Given the description of an element on the screen output the (x, y) to click on. 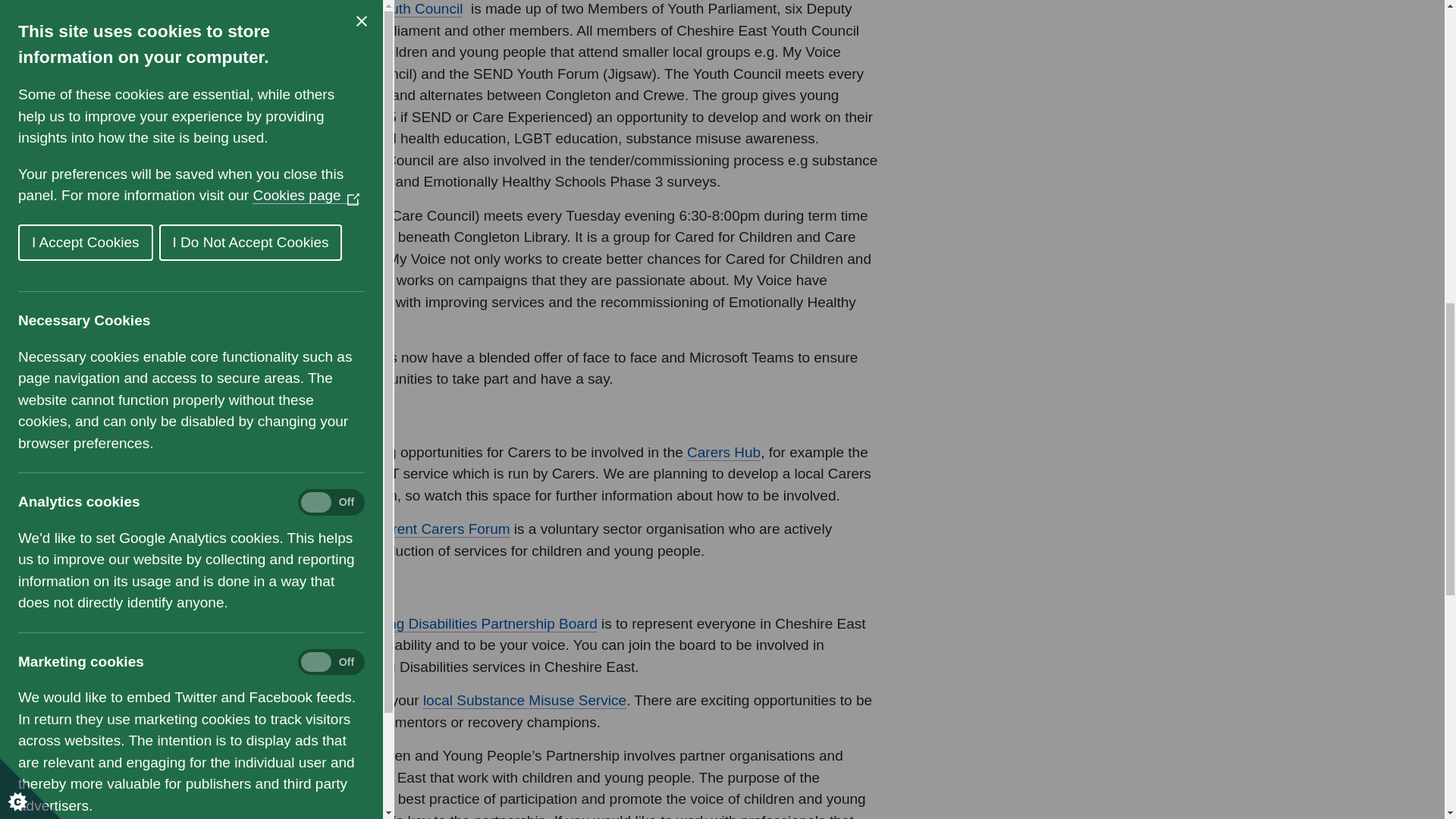
Drug and substance misuse (524, 700)
Learning Disability Partnership Board (471, 623)
Cheshire East Youth Council (372, 8)
My Voice (280, 216)
local Substance Misuse Service (524, 700)
Learning Disabilities Partnership Board (471, 623)
Carers Hub (723, 452)
Cheshire East Parent Carers Forum (396, 528)
